Given the description of an element on the screen output the (x, y) to click on. 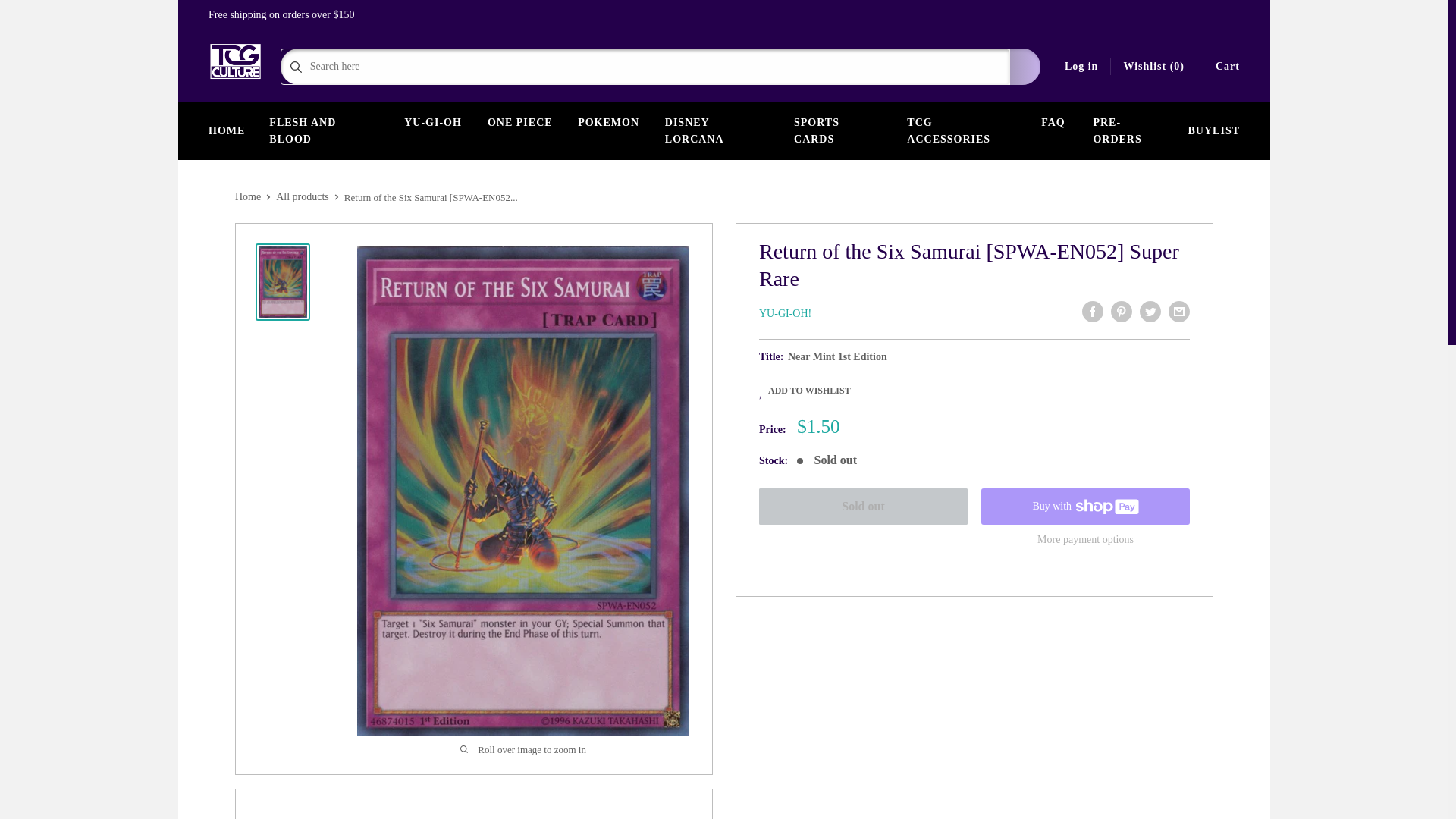
Search (1025, 66)
Add to Cart (863, 506)
